Given the description of an element on the screen output the (x, y) to click on. 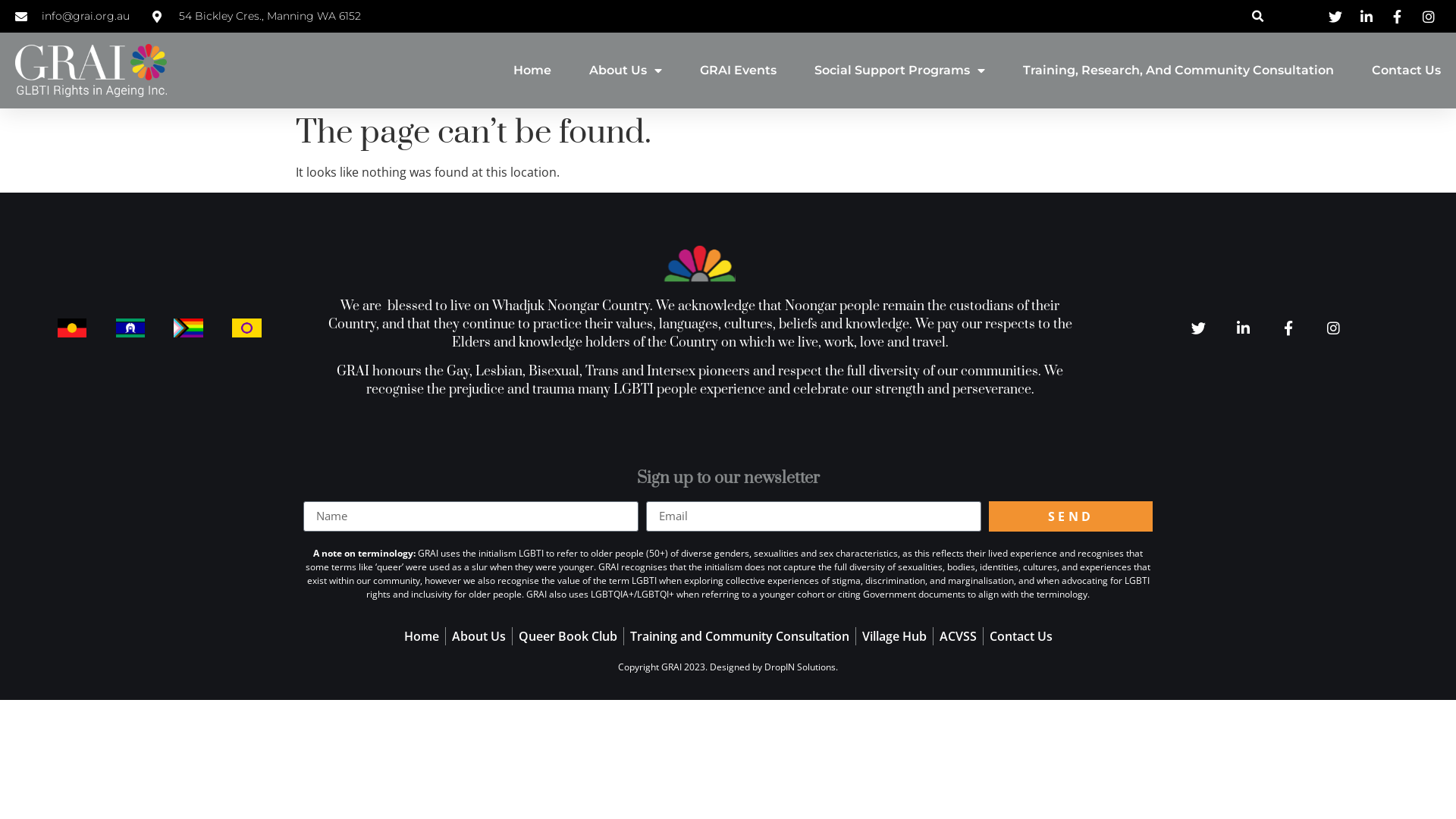
About Us Element type: text (625, 70)
Village Hub Element type: text (893, 636)
Home Element type: text (532, 70)
DropIN Solutions Element type: text (799, 666)
Training, Research, And Community Consultation Element type: text (1177, 70)
SEND Element type: text (1070, 516)
Contact Us Element type: text (1019, 636)
GRAI Events Element type: text (737, 70)
Social Support Programs Element type: text (899, 70)
Queer Book Club Element type: text (567, 636)
Contact Us Element type: text (1405, 70)
About Us Element type: text (478, 636)
Home Element type: text (420, 636)
Training and Community Consultation Element type: text (738, 636)
ACVSS Element type: text (956, 636)
